Given the description of an element on the screen output the (x, y) to click on. 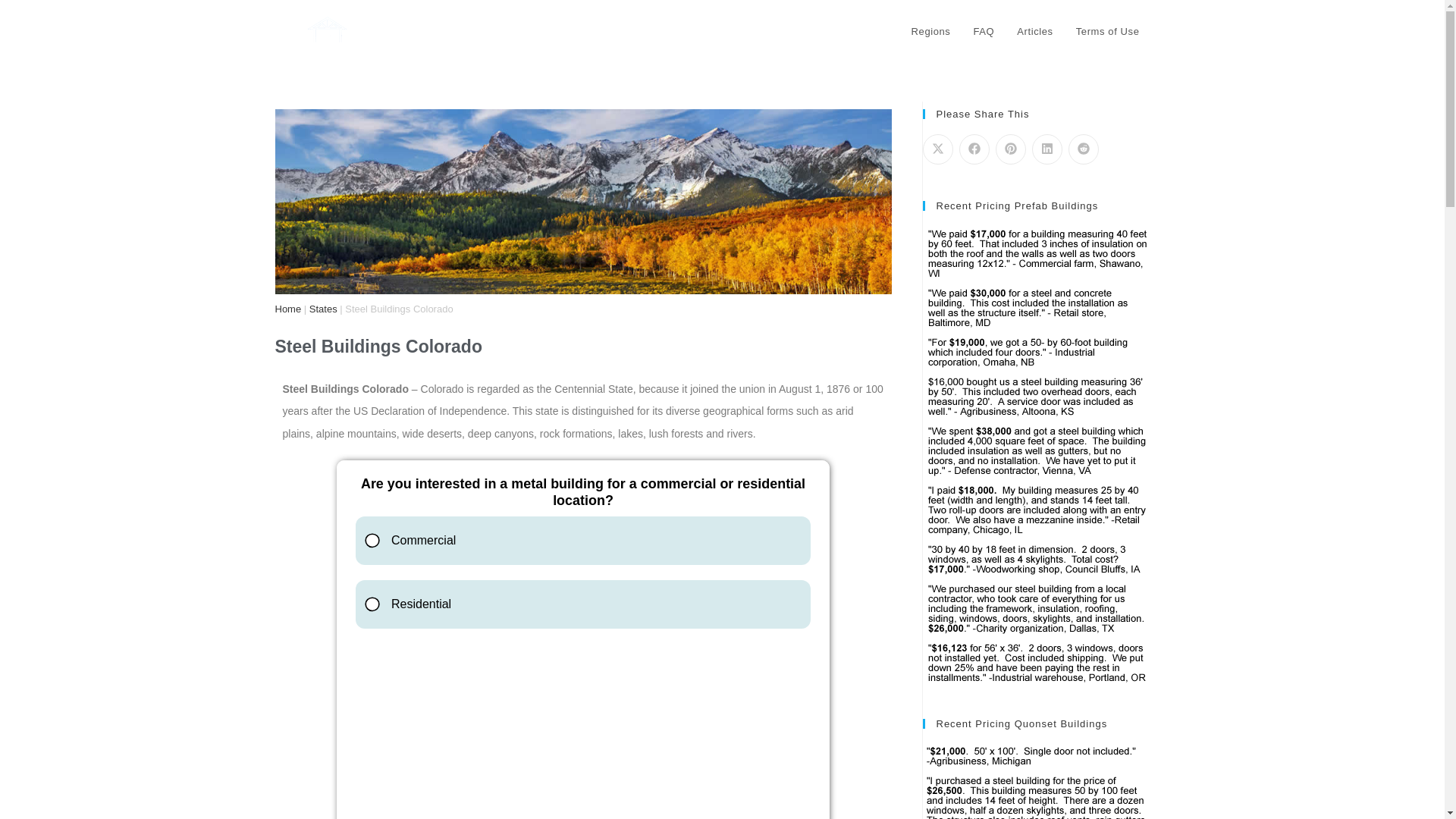
Share on Facebook (973, 149)
Share on LinkedIn (1045, 149)
Regions (930, 31)
Recent Pricing Quonset Buildings (1035, 781)
Articles (1035, 31)
Share on X (936, 149)
Share on Pinterest (1009, 149)
